Given the description of an element on the screen output the (x, y) to click on. 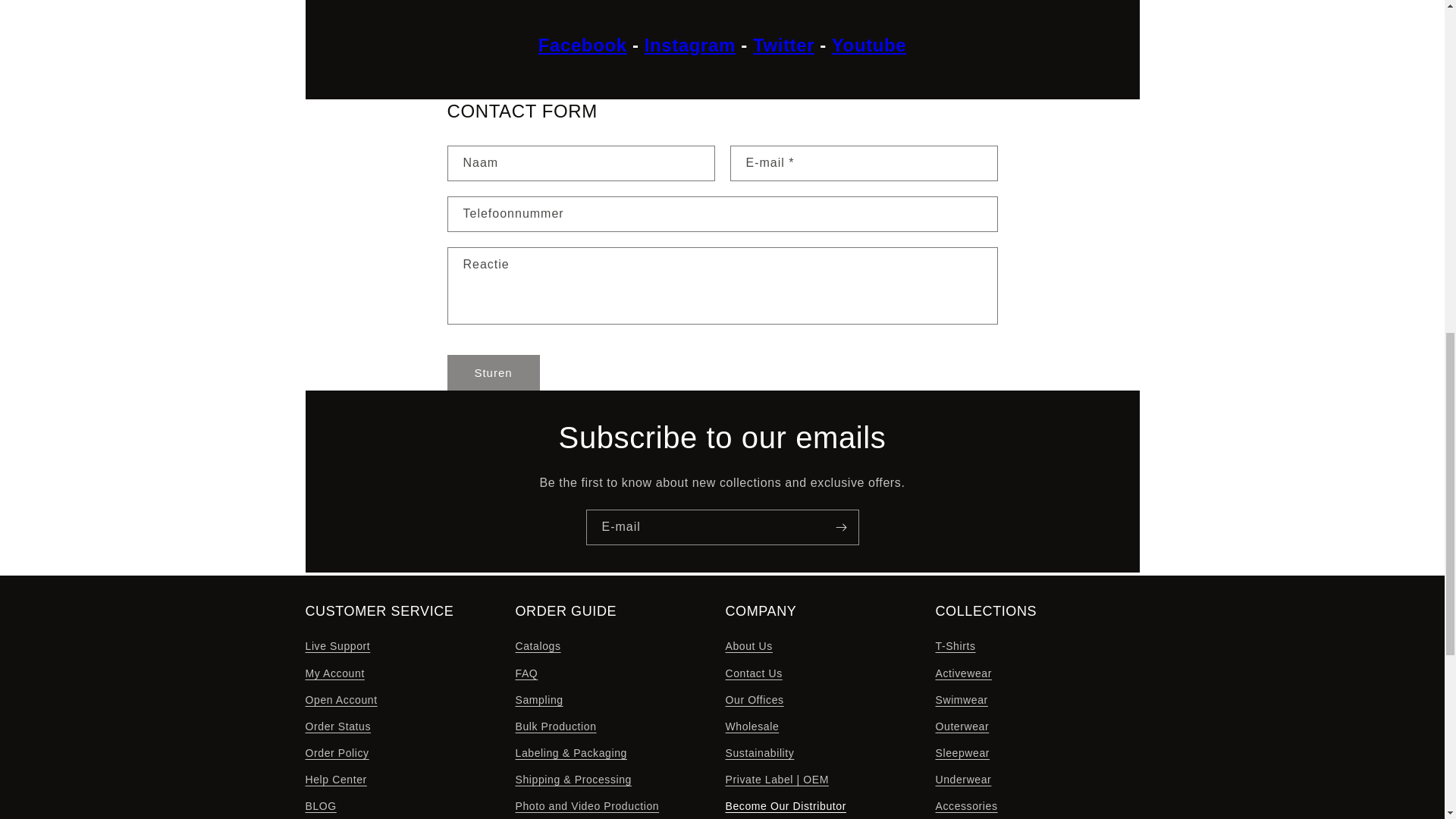
doztex instagram page (690, 45)
doztex facebook page (582, 45)
doztex youtube page (868, 45)
doztex twitter page (782, 45)
